Given the description of an element on the screen output the (x, y) to click on. 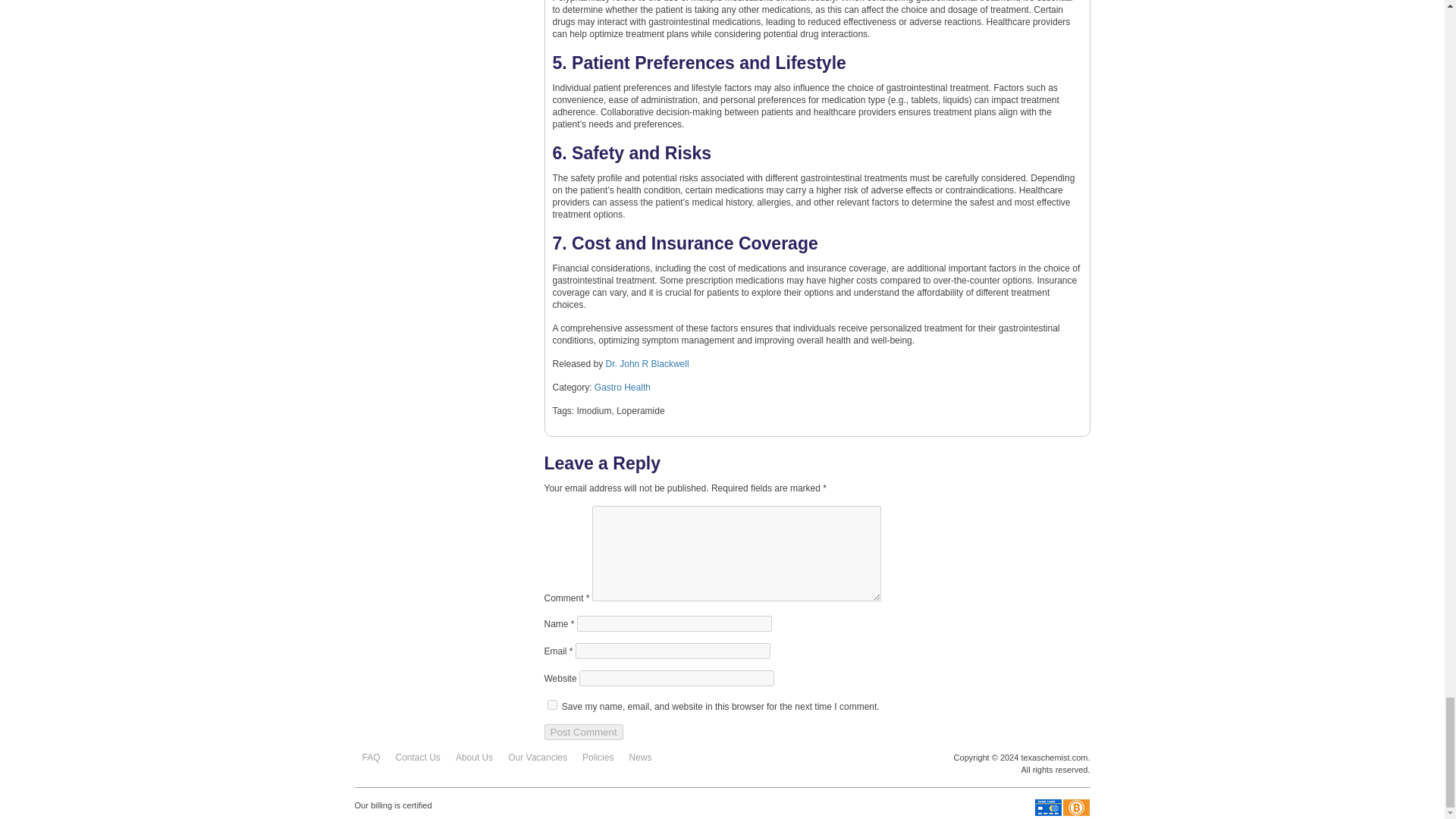
Post Comment (583, 731)
yes (552, 705)
Posts by Dr. John R Blackwell (646, 363)
